Given the description of an element on the screen output the (x, y) to click on. 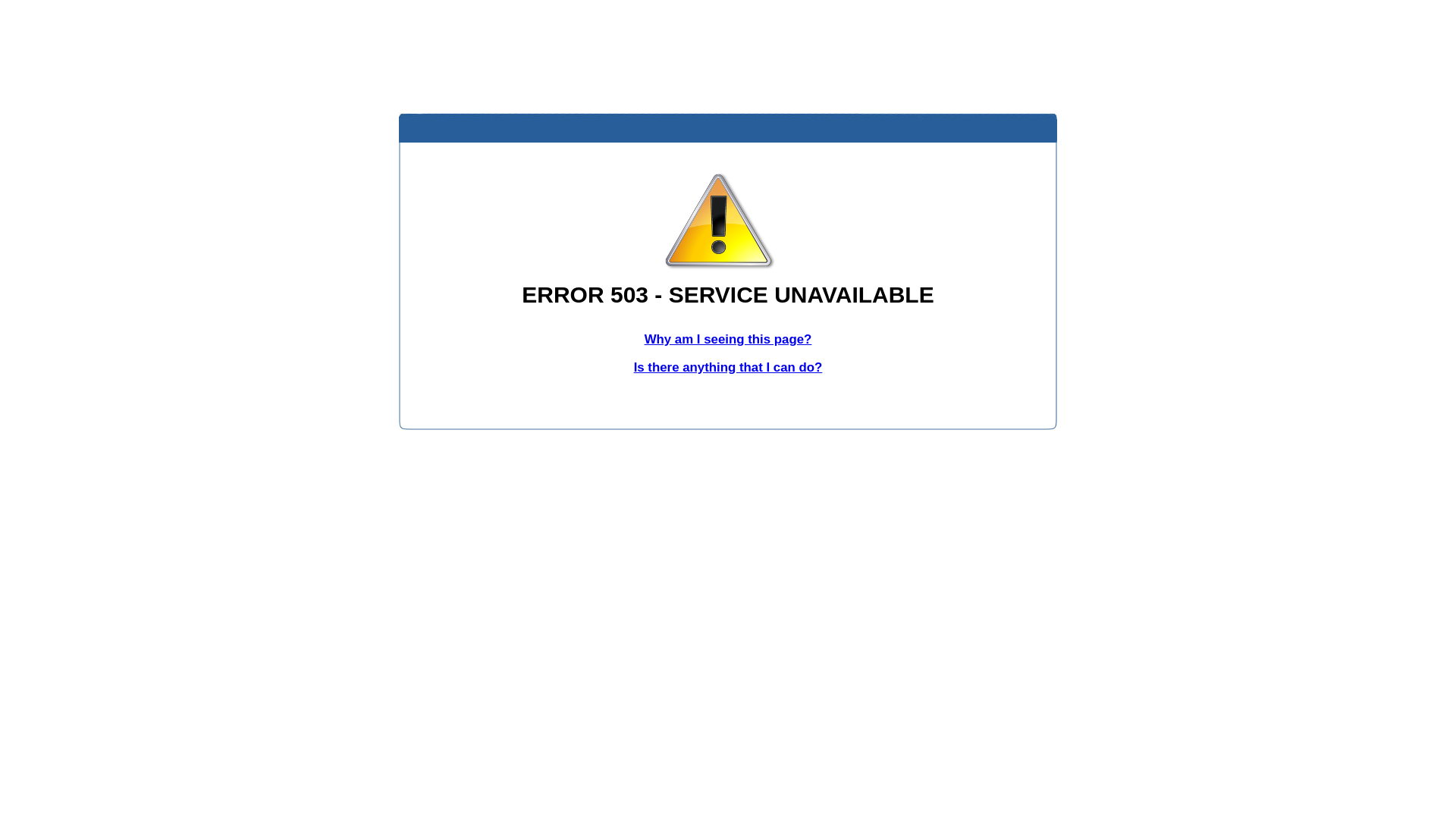
Is there anything that I can do? Element type: text (727, 367)
Why am I seeing this page? Element type: text (728, 339)
